Given the description of an element on the screen output the (x, y) to click on. 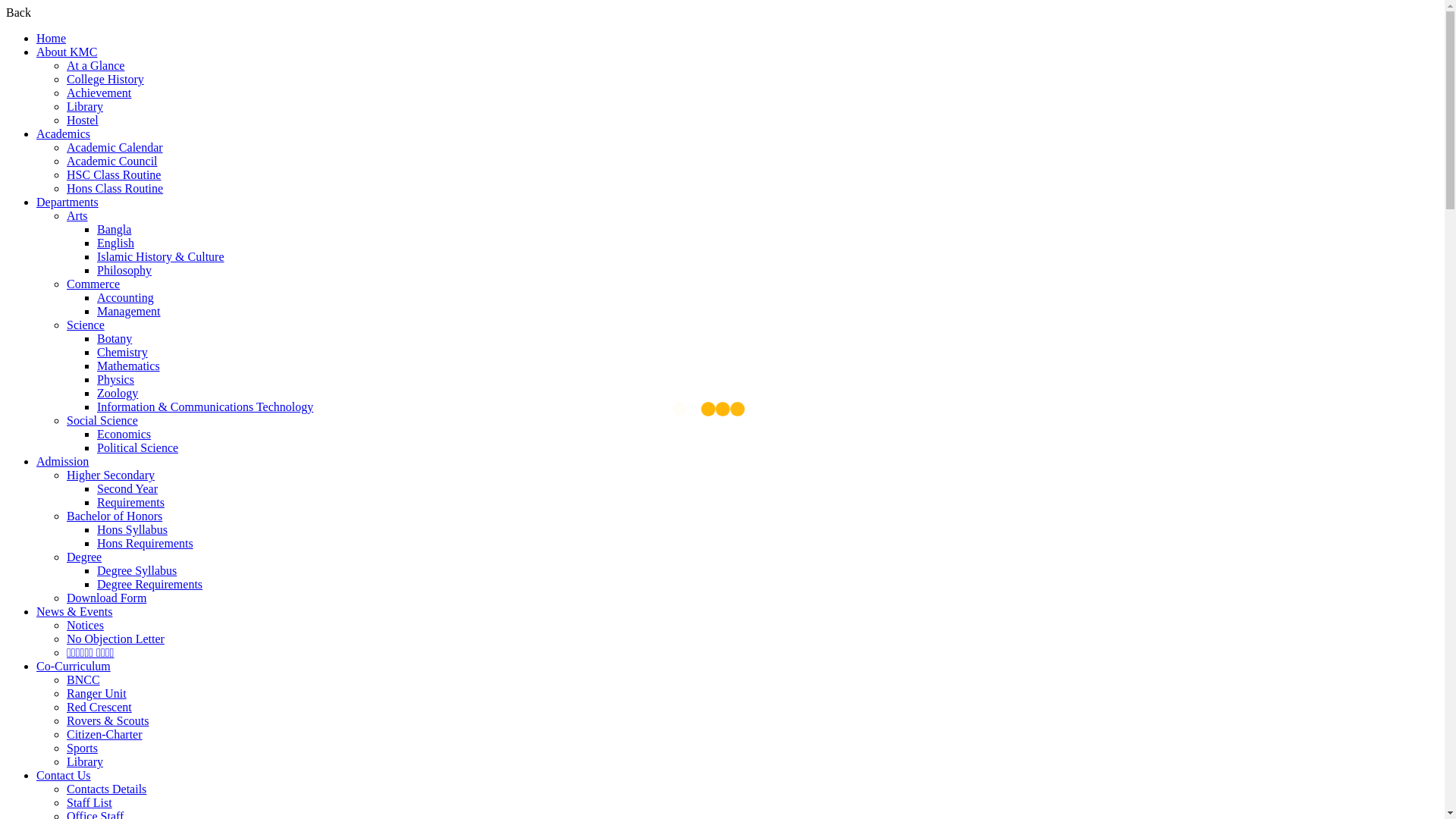
Ranger Unit Element type: text (96, 693)
Hons Syllabus Element type: text (132, 529)
Chemistry Element type: text (122, 351)
Mathematics Element type: text (128, 365)
News & Events Element type: text (74, 611)
Staff List Element type: text (89, 802)
Degree Syllabus Element type: text (136, 570)
Achievement Element type: text (98, 92)
Botany Element type: text (114, 338)
Home Element type: text (50, 37)
Bachelor of Honors Element type: text (114, 515)
Hons Class Routine Element type: text (114, 188)
Citizen-Charter Element type: text (104, 734)
Download Form Element type: text (106, 597)
Rovers & Scouts Element type: text (107, 720)
Management Element type: text (128, 310)
Science Element type: text (85, 324)
Sports Element type: text (81, 747)
Notices Element type: text (84, 624)
About KMC Element type: text (66, 51)
Co-Curriculum Element type: text (73, 665)
Hostel Element type: text (82, 119)
Degree Element type: text (83, 556)
English Element type: text (115, 242)
Library Element type: text (84, 761)
Accounting Element type: text (125, 297)
Academic Calendar Element type: text (114, 147)
BNCC Element type: text (83, 679)
Physics Element type: text (115, 379)
Higher Secondary Element type: text (110, 474)
Degree Requirements Element type: text (149, 583)
Islamic History & Culture Element type: text (160, 256)
Philosophy Element type: text (124, 269)
Academics Element type: text (63, 133)
Second Year Element type: text (127, 488)
Commerce Element type: text (92, 283)
Departments Element type: text (67, 201)
Contact Us Element type: text (63, 774)
HSC Class Routine Element type: text (113, 174)
Economics Element type: text (123, 433)
No Objection Letter Element type: text (115, 638)
Political Science Element type: text (137, 447)
Red Crescent Element type: text (98, 706)
Zoology Element type: text (117, 392)
Bangla Element type: text (114, 228)
Hons Requirements Element type: text (145, 542)
Requirements Element type: text (130, 501)
Academic Council Element type: text (111, 160)
Arts Element type: text (76, 215)
Admission Element type: text (62, 461)
Contacts Details Element type: text (106, 788)
At a Glance Element type: text (95, 65)
Library Element type: text (84, 106)
Information & Communications Technology Element type: text (205, 406)
Social Science Element type: text (102, 420)
College History Element type: text (105, 78)
